Given the description of an element on the screen output the (x, y) to click on. 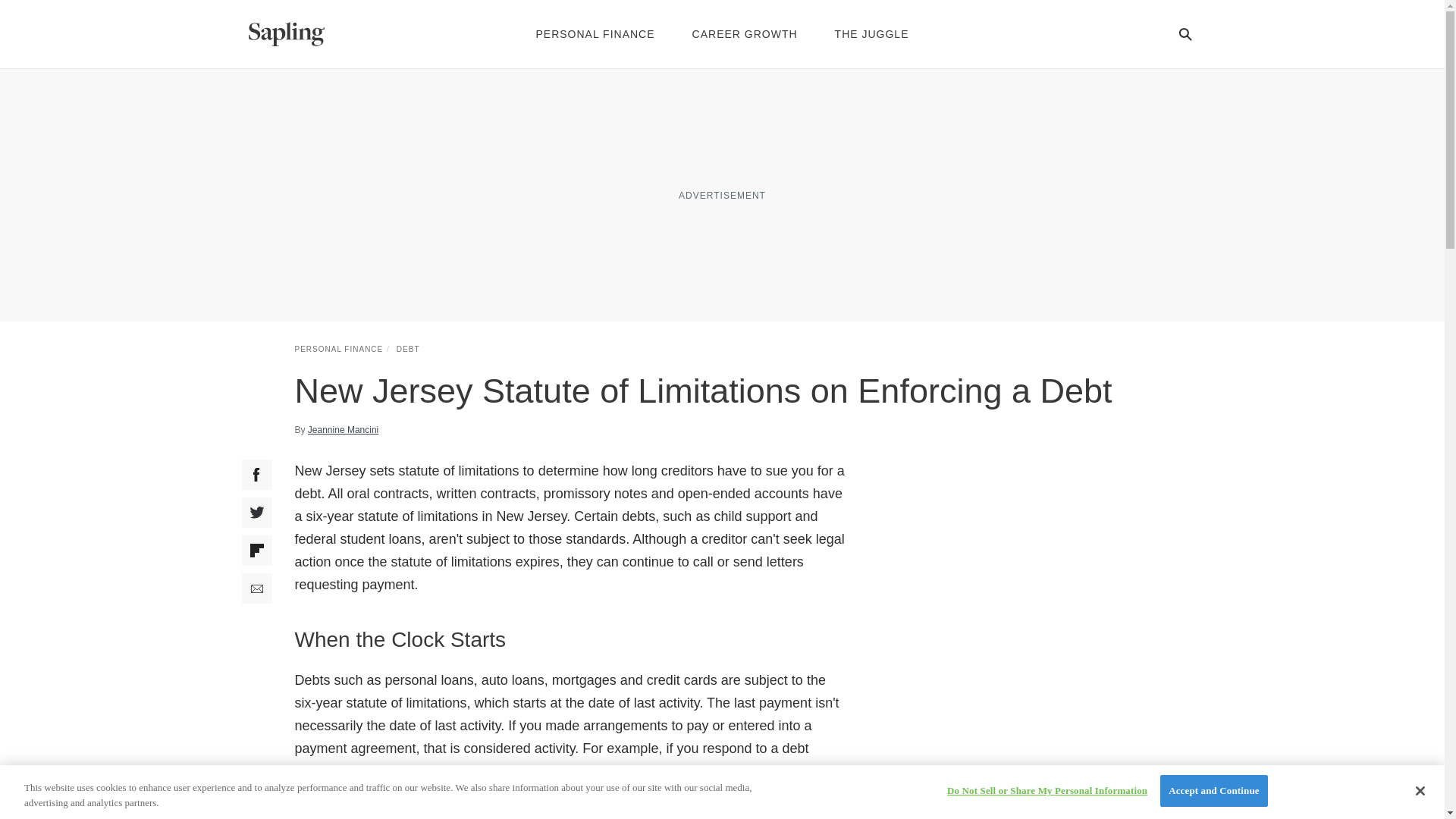
Jeannine Mancini (342, 429)
PERSONAL FINANCE (338, 348)
3rd party ad content (1035, 554)
DEBT (408, 348)
3rd party ad content (721, 194)
